Given the description of an element on the screen output the (x, y) to click on. 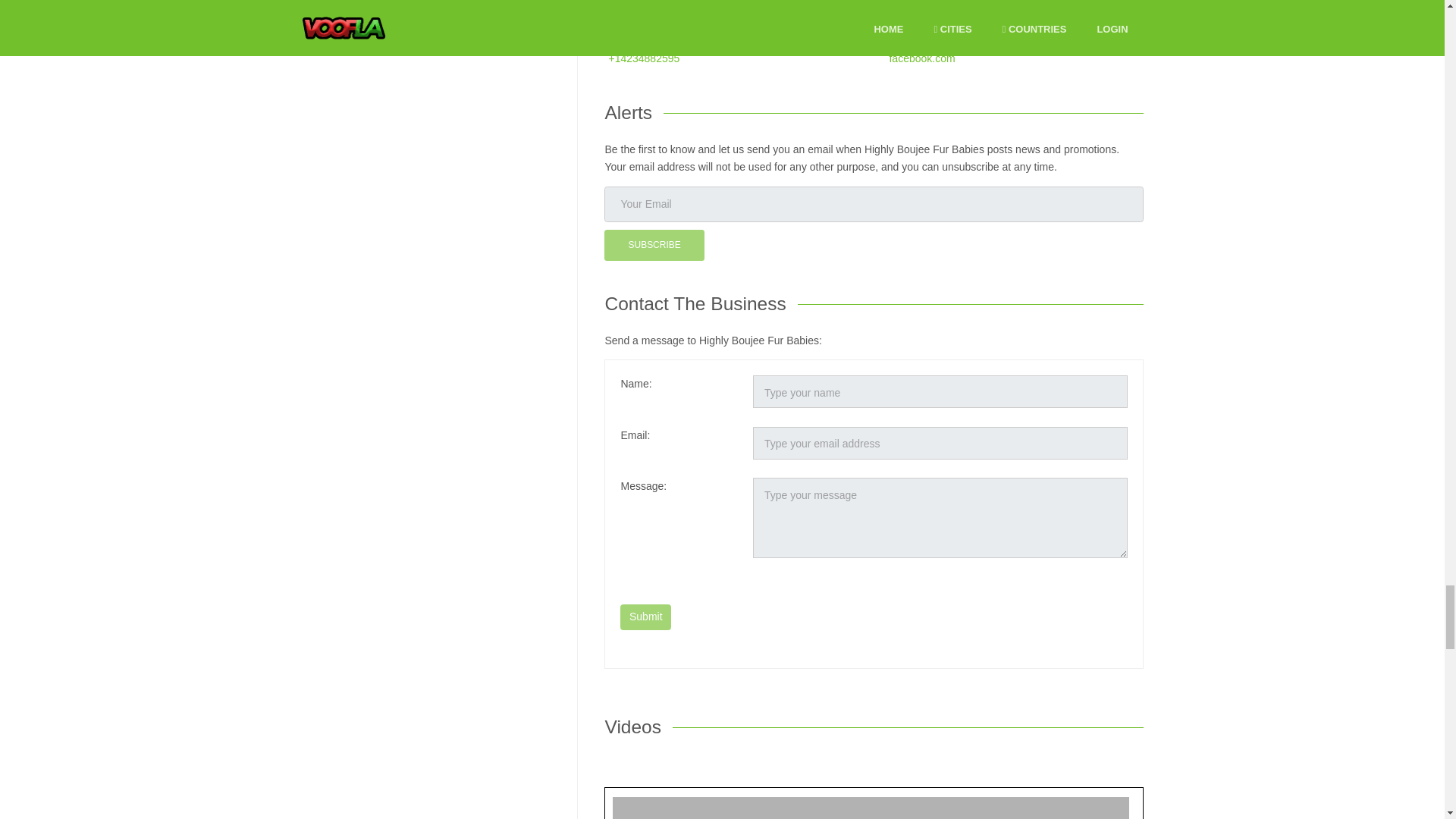
facebook.com (921, 587)
SUBSCRIBE (653, 775)
